Given the description of an element on the screen output the (x, y) to click on. 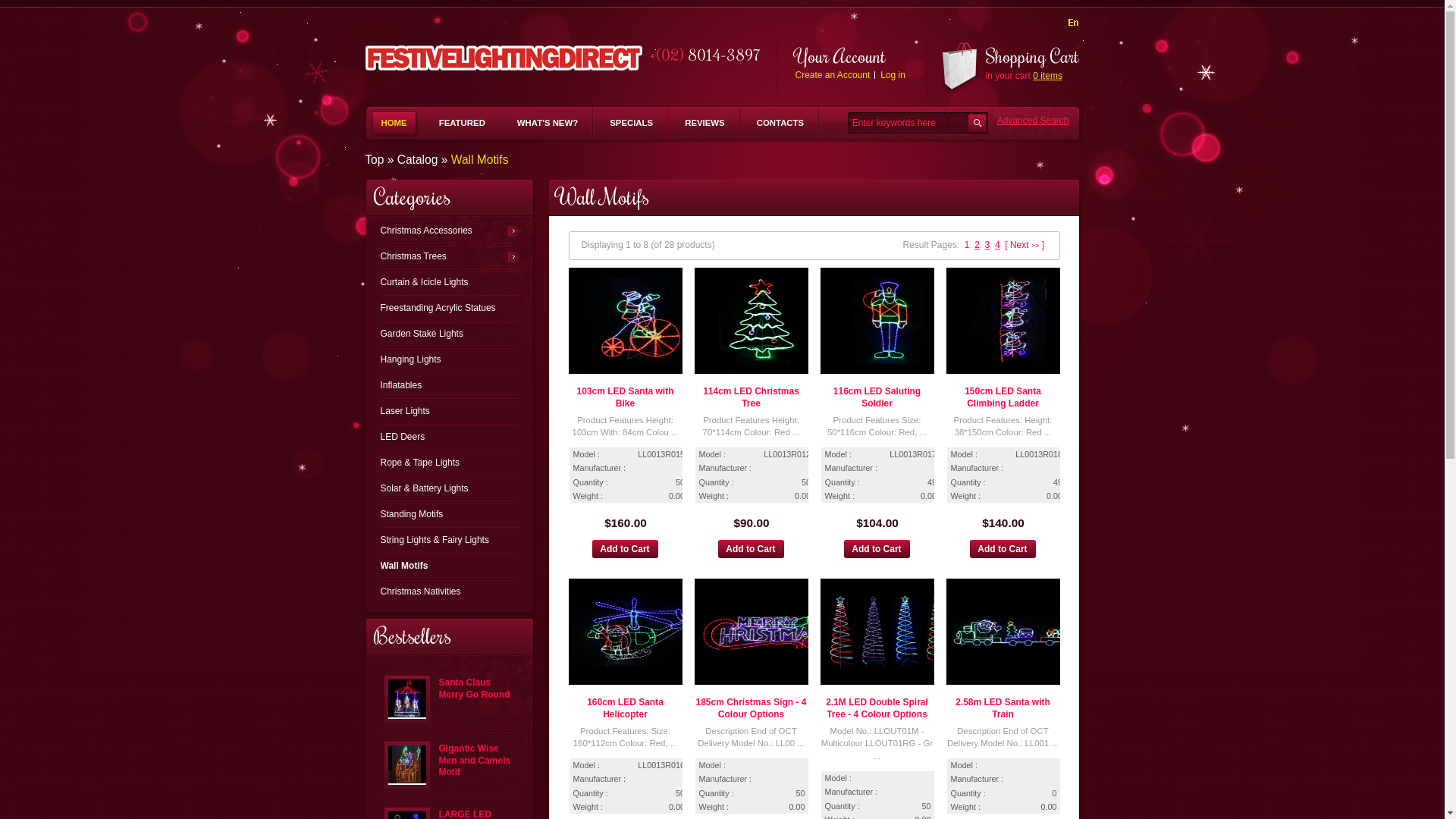
4 Element type: text (997, 244)
REVIEWS Element type: text (704, 123)
 160cm LED Santa Helicopter  Element type: hover (636, 631)
CONTACTS Element type: text (780, 123)
Freestanding Acrylic Statues Element type: text (449, 307)
 150cm LED Santa Climbing Ladder  Element type: hover (1014, 320)
Christmas Trees Element type: text (449, 256)
Curtain & Icicle Lights Element type: text (449, 281)
2.1M LED Double Spiral Tree - 4 Colour Options Element type: text (876, 708)
WHAT'S NEW? Element type: text (547, 123)
String Lights & Fairy Lights Element type: text (449, 539)
 Festive Lighting Direct  Element type: hover (503, 57)
 114cm LED Christmas Tree  Element type: hover (762, 320)
103cm LED Santa with Bike Element type: text (624, 397)
Log in Element type: text (892, 74)
Inflatables Element type: text (449, 385)
Top Element type: text (373, 159)
Santa Claus Merry Go Round Element type: text (473, 688)
HOME Element type: text (394, 123)
Christmas Nativities Element type: text (449, 591)
 Santa Claus Merry Go Round  Element type: hover (407, 698)
0 items Element type: text (1047, 75)
 2.1M LED Double Spiral Tree - 4 Colour Options  Element type: hover (888, 631)
Laser Lights Element type: text (449, 410)
150cm LED Santa Climbing Ladder Element type: text (1002, 397)
 2.58m LED Santa with Train  Element type: hover (1014, 631)
Christmas Accessories Element type: text (449, 230)
116cm LED Saluting Soldier Element type: text (876, 397)
Add to Cart Element type: text (750, 548)
 116cm LED Saluting Soldier  Element type: hover (888, 320)
160cm LED Santa Helicopter Element type: text (624, 708)
FEATURED Element type: text (461, 123)
Gigantic Wise Men and Camels Motif Element type: text (474, 760)
Standing Motifs Element type: text (449, 514)
185cm Christmas Sign - 4 Colour Options Element type: text (750, 708)
LED Deers Element type: text (449, 436)
Wall Motifs Element type: text (449, 565)
Add to Cart Element type: text (1001, 548)
 English  Element type: hover (1070, 23)
Bestsellers Element type: text (411, 635)
Wall Motifs Element type: text (479, 159)
Advanced Search Element type: text (1028, 125)
Catalog Element type: text (417, 159)
2 Element type: text (976, 244)
Solar & Battery Lights Element type: text (449, 488)
Rope & Tape Lights Element type: text (449, 462)
 185cm Christmas Sign - 4 Colour Options  Element type: hover (762, 631)
 Gigantic Wise Men and Camels Motif  Element type: hover (407, 764)
3 Element type: text (987, 244)
Shopping Cart Element type: text (1032, 55)
Add to Cart Element type: text (624, 548)
Garden Stake Lights Element type: text (449, 333)
114cm LED Christmas Tree Element type: text (750, 397)
SPECIALS Element type: text (631, 123)
 103cm LED Santa with Bike  Element type: hover (636, 320)
[ Next >> ] Element type: text (1024, 244)
Hanging Lights Element type: text (449, 359)
Create an Account Element type: text (832, 74)
Add to Cart Element type: text (876, 548)
2.58m LED Santa with Train Element type: text (1002, 708)
